Given the description of an element on the screen output the (x, y) to click on. 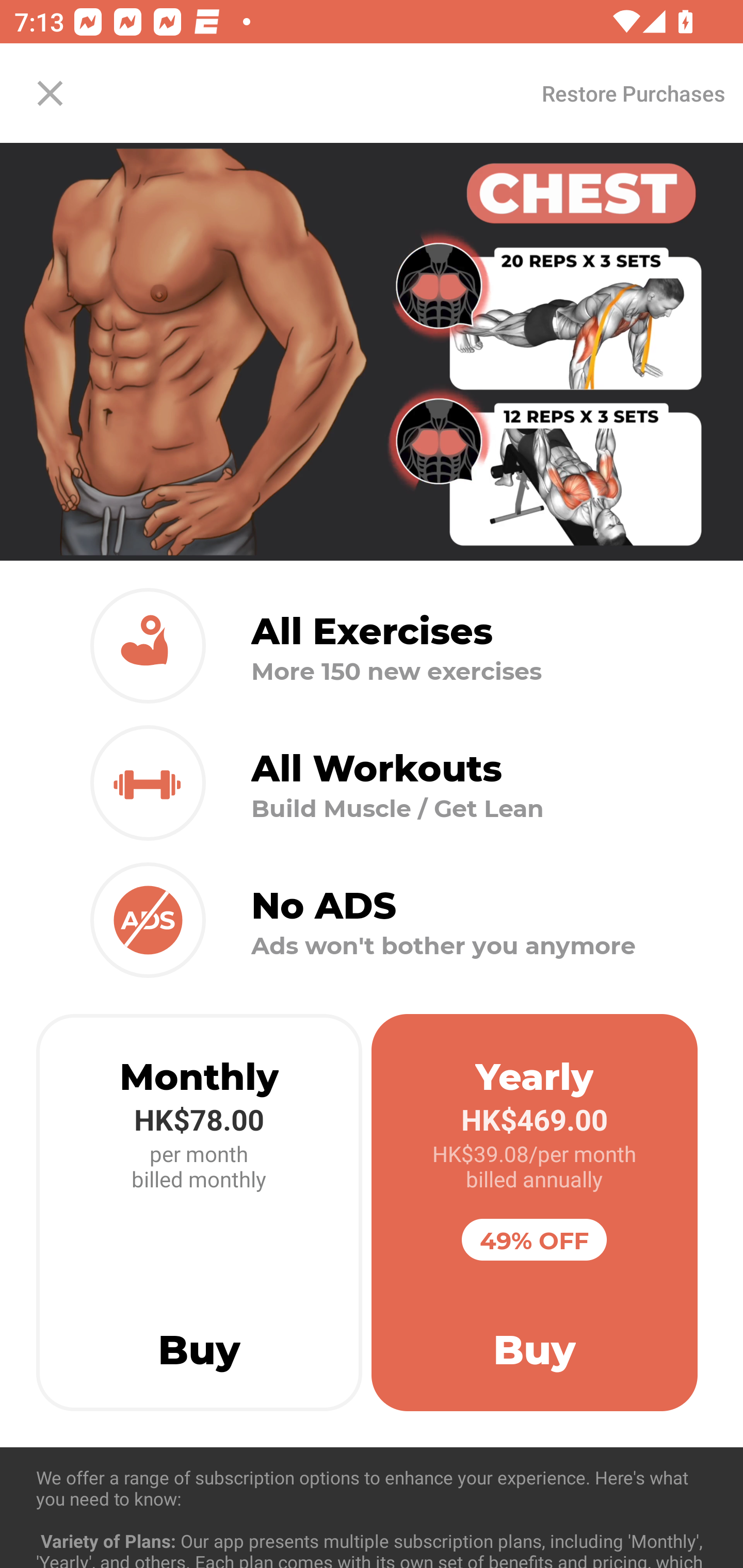
Restore Purchases (632, 92)
Monthly HK$78.00 per month
billed monthly Buy (199, 1212)
